Given the description of an element on the screen output the (x, y) to click on. 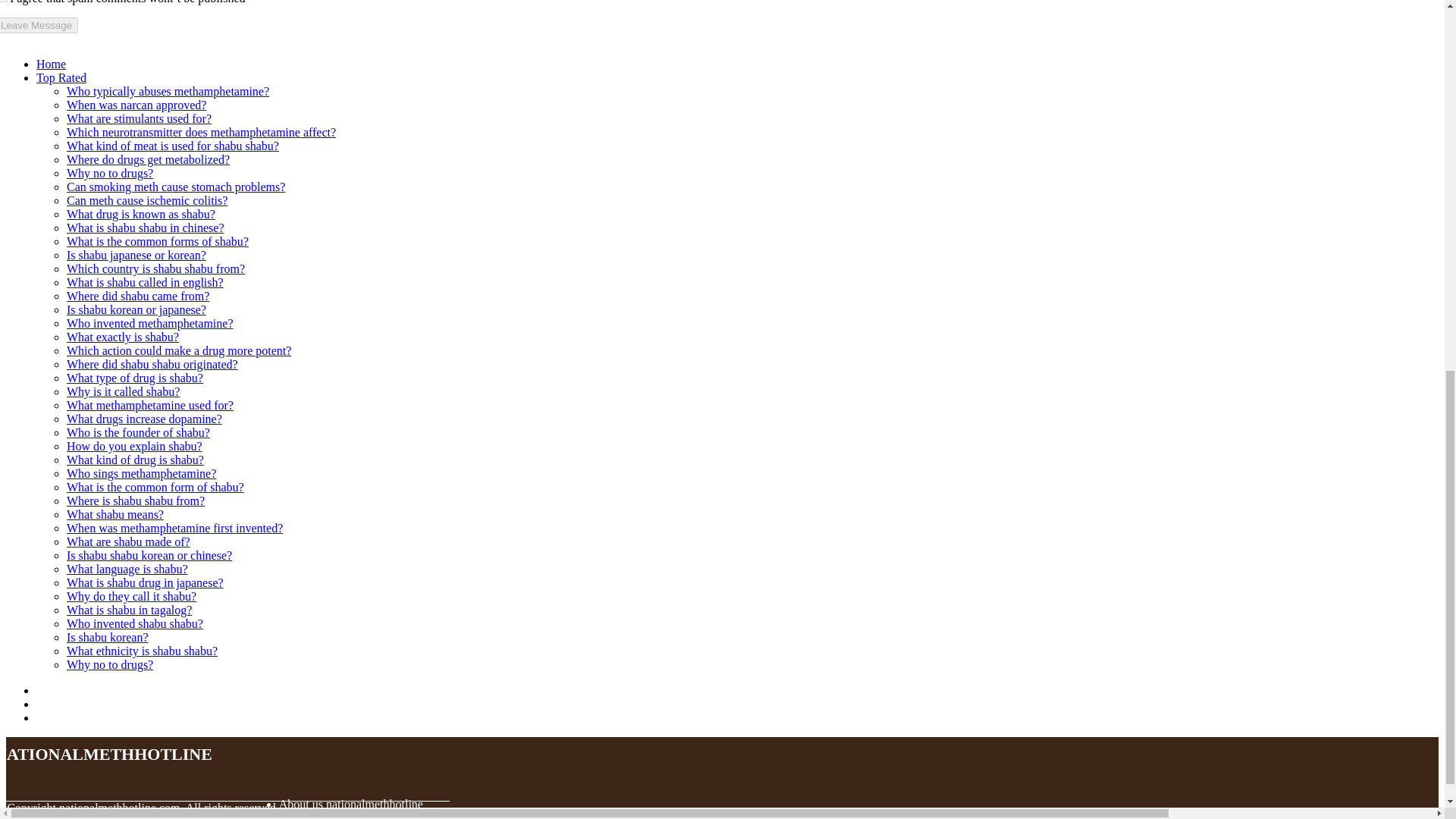
Who typically abuses methamphetamine? (167, 91)
Where did shabu shabu originated? (152, 364)
What drug is known as shabu? (140, 214)
Where do drugs get metabolized? (148, 159)
What exactly is shabu? (122, 336)
Top Rated (60, 77)
Which country is shabu shabu from? (155, 268)
Why is it called shabu? (122, 391)
Home (50, 63)
When was narcan approved? (136, 104)
Which action could make a drug more potent? (178, 350)
How do you explain shabu? (134, 445)
What is shabu shabu in chinese? (145, 227)
Who is the founder of shabu? (137, 431)
